Given the description of an element on the screen output the (x, y) to click on. 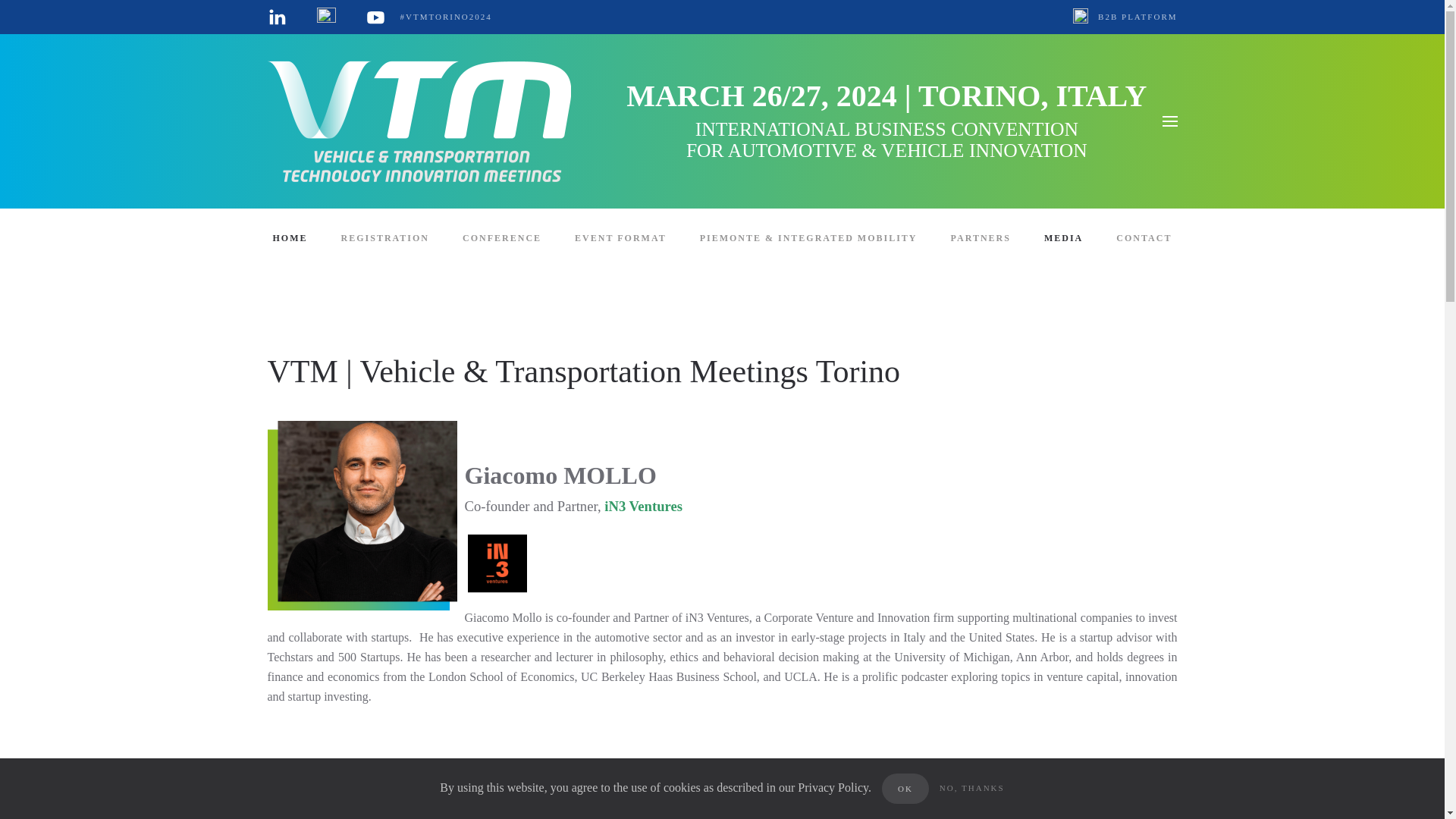
CONFERENCE (502, 238)
B2B PLATFORM (1124, 16)
HOME (289, 238)
EVENT FORMAT (620, 238)
REGISTRATION (385, 238)
